Given the description of an element on the screen output the (x, y) to click on. 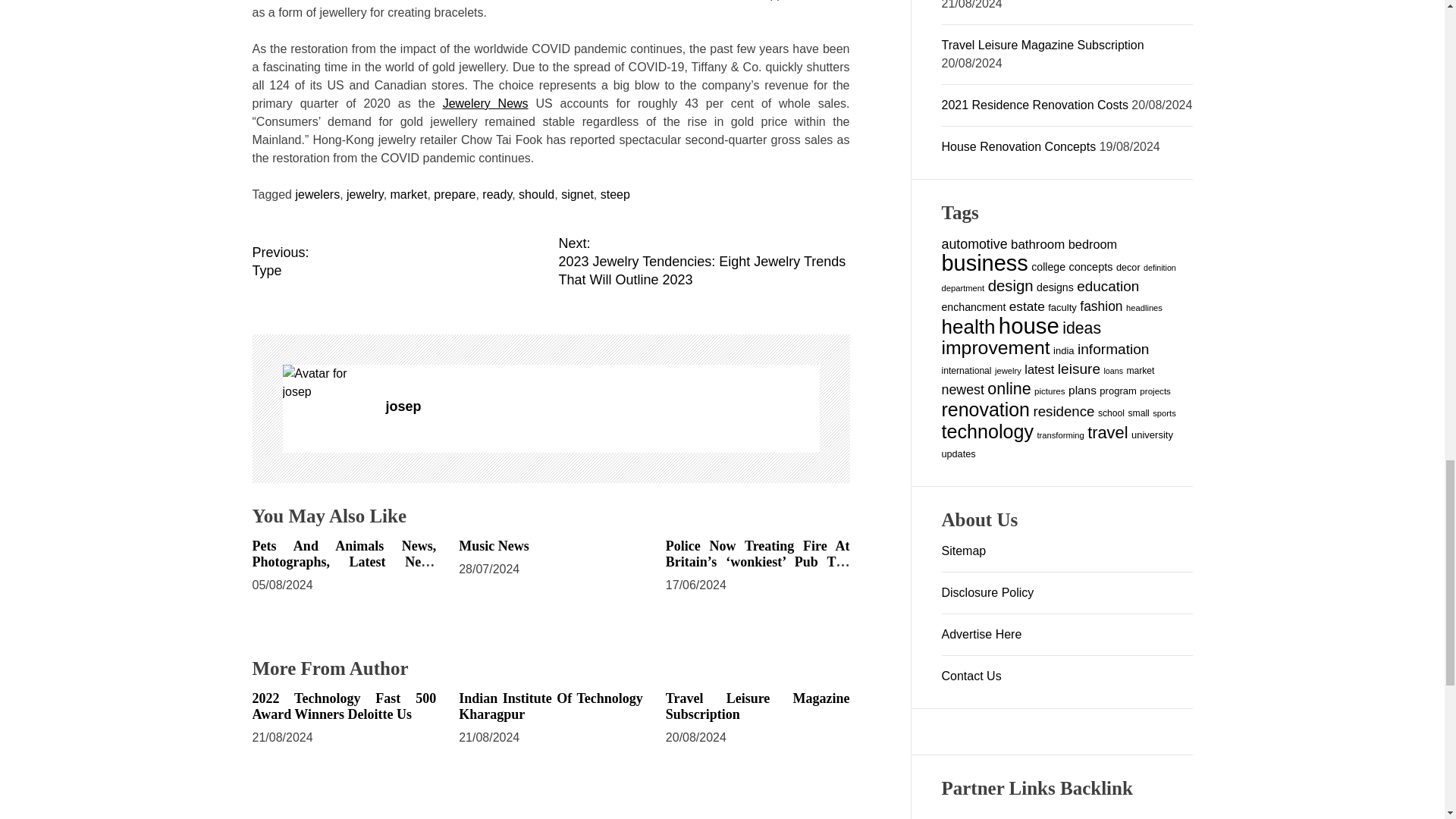
josep (325, 382)
jewelry (365, 194)
josep (397, 261)
prepare (601, 406)
market (454, 194)
Jewelery News (409, 194)
signet (485, 103)
